Given the description of an element on the screen output the (x, y) to click on. 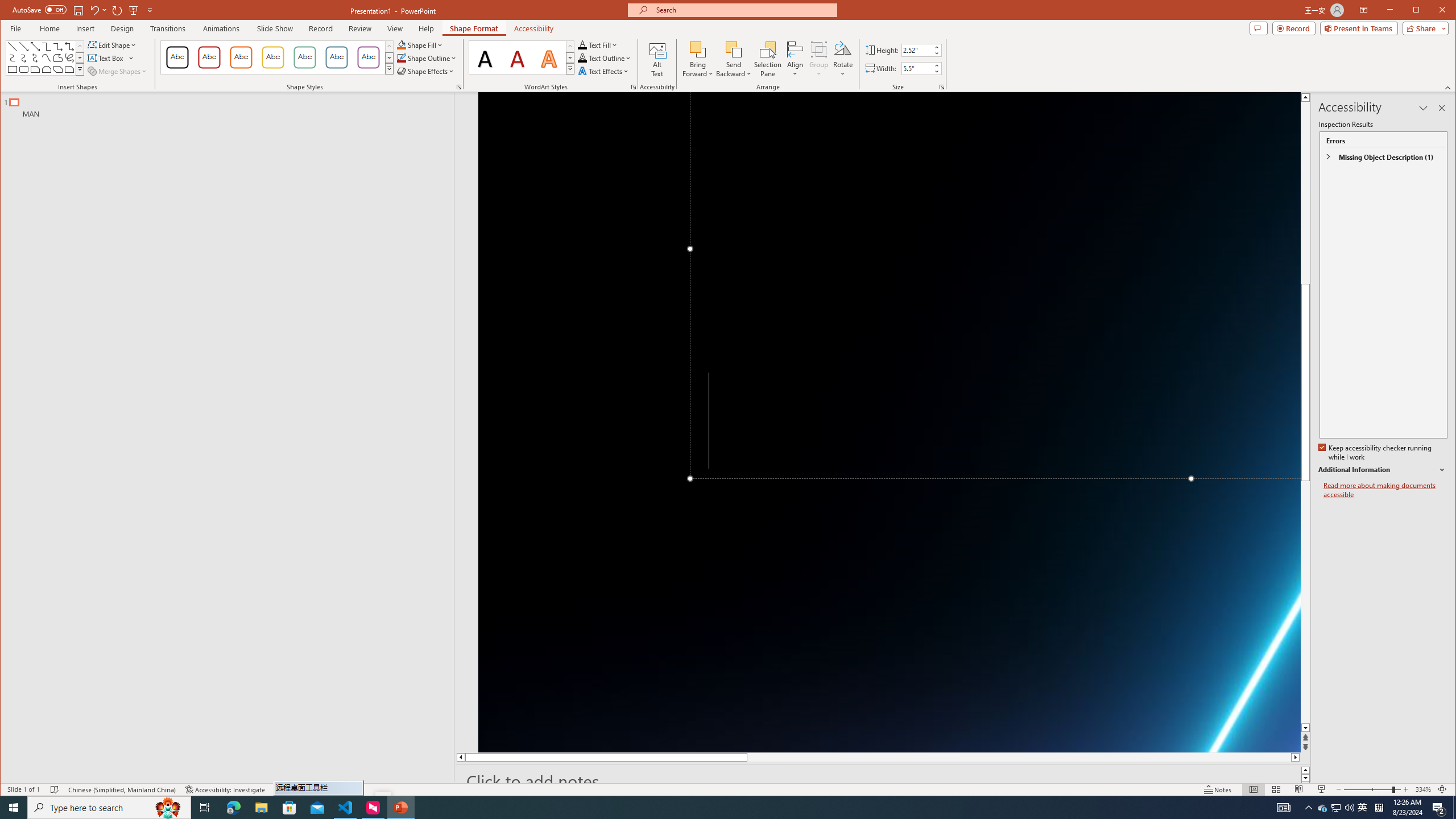
Line Arrow: Double (34, 46)
Colored Outline - Gold, Accent 3 (272, 57)
Edit Shape (112, 44)
Colored Outline - Orange, Accent 2 (241, 57)
Text Fill RGB(0, 0, 0) (582, 44)
